Given the description of an element on the screen output the (x, y) to click on. 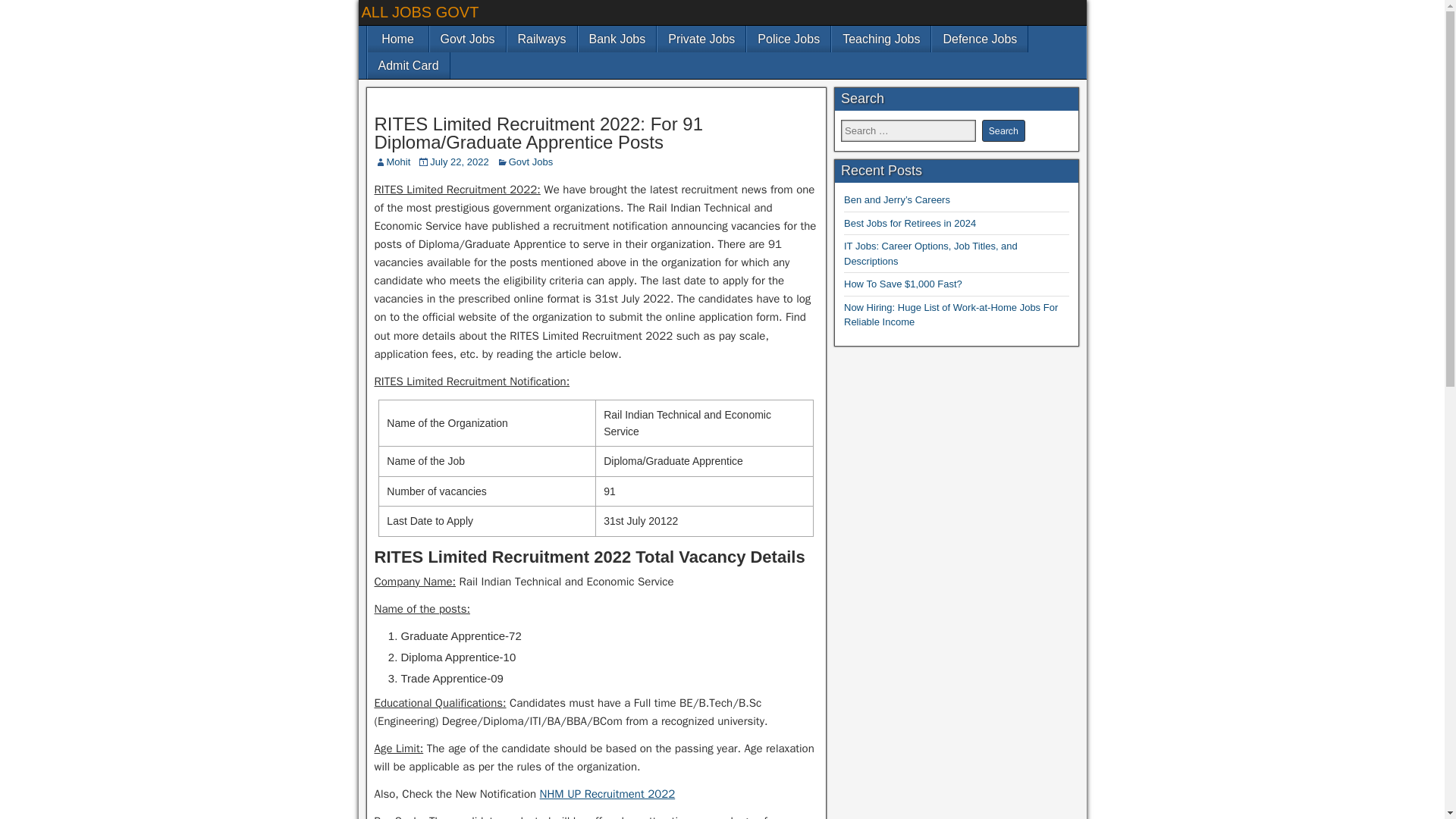
Police Jobs (787, 38)
Defence Jobs (979, 38)
Mohit (398, 161)
Home (397, 38)
Search (1003, 130)
Govt Jobs (530, 161)
Railways (541, 38)
ALL JOBS GOVT (420, 12)
Admit Card (407, 65)
